Given the description of an element on the screen output the (x, y) to click on. 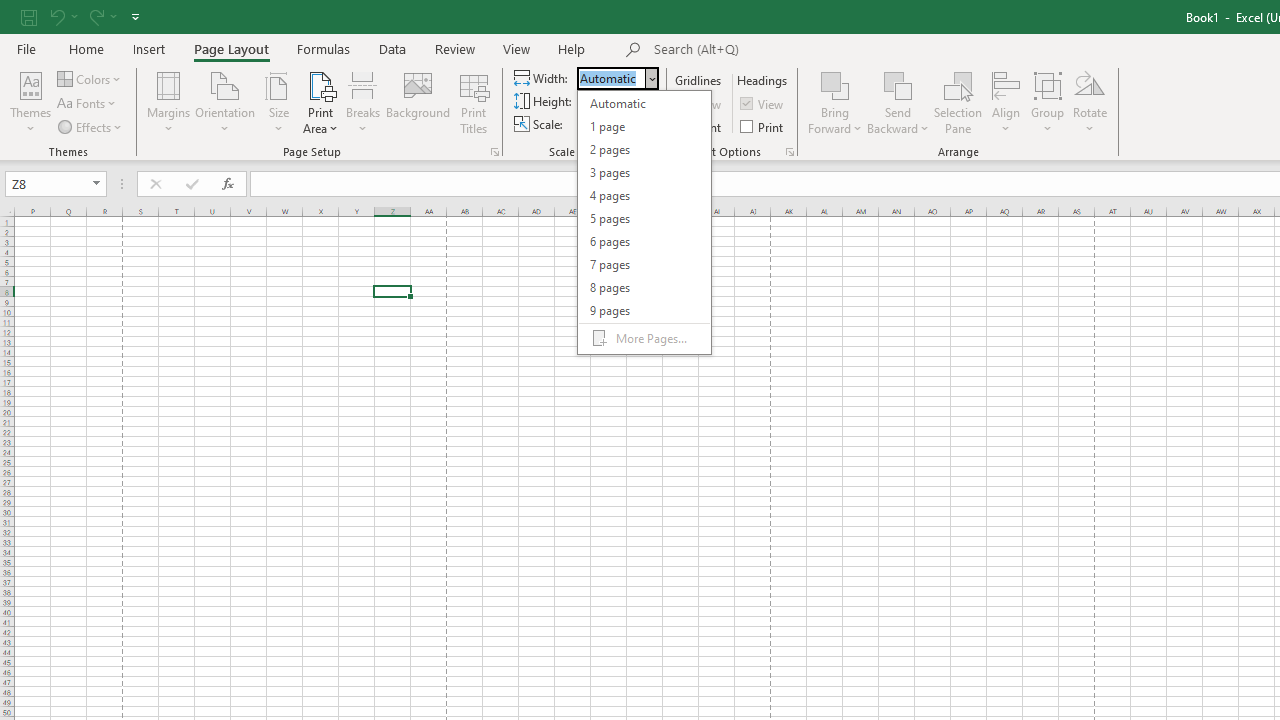
3 pages (644, 172)
Rotate (1089, 102)
Undo (56, 15)
Close (651, 78)
Redo (102, 15)
Height (611, 101)
Align (1005, 102)
Automatic (644, 103)
Effects (91, 126)
Width (611, 78)
View (763, 103)
More Options (898, 121)
Width (644, 222)
Quick Access Toolbar (82, 16)
